Given the description of an element on the screen output the (x, y) to click on. 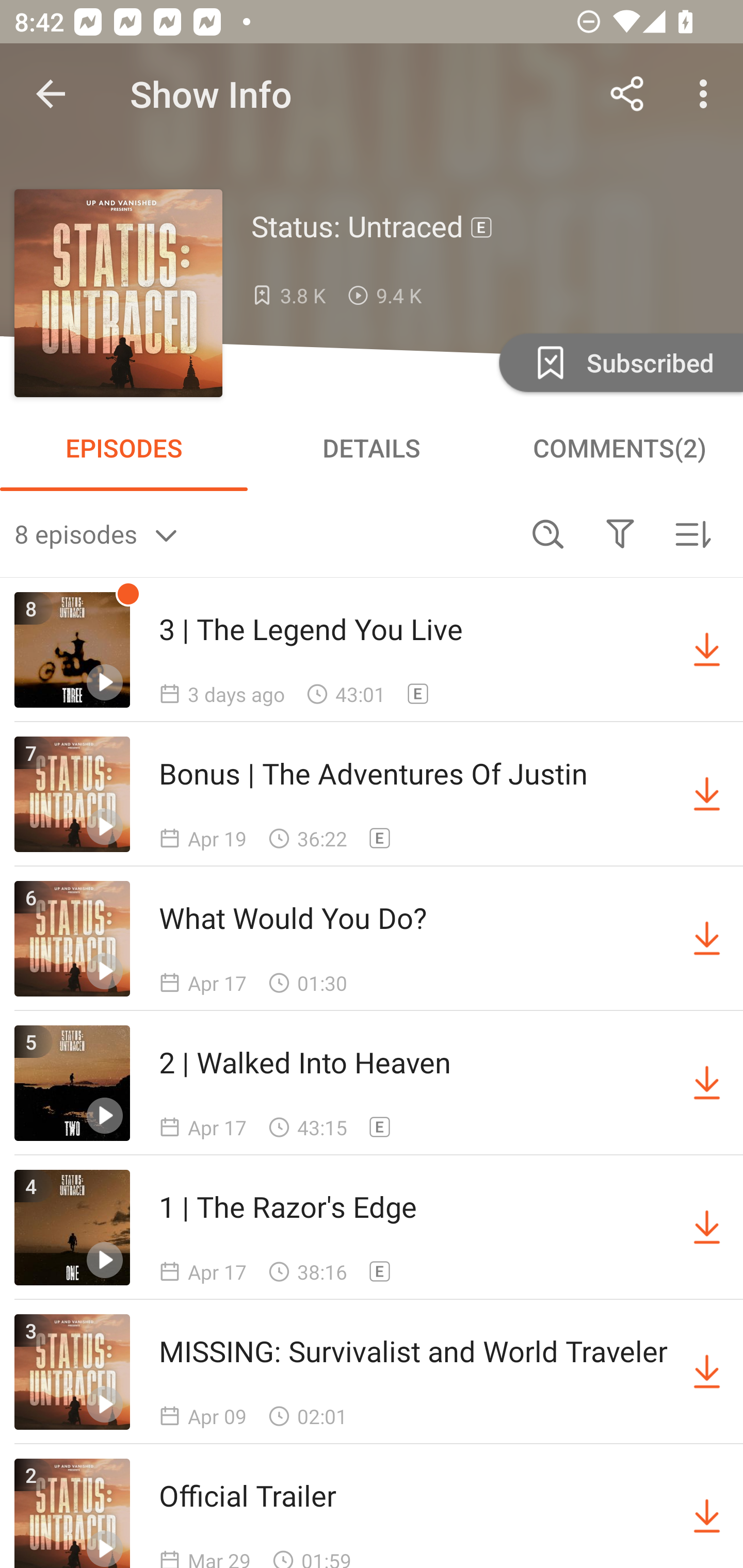
Navigate up (50, 93)
Share (626, 93)
More options (706, 93)
Unsubscribe Subscribed (619, 361)
EPISODES (123, 447)
DETAILS (371, 447)
COMMENTS(2) (619, 447)
8 episodes  (262, 533)
 Search (547, 533)
 (619, 533)
 Sorted by newest first (692, 533)
Download (706, 649)
Download (706, 793)
Download (706, 939)
Download (706, 1083)
Download (706, 1227)
Download (706, 1371)
Download (706, 1513)
